Given the description of an element on the screen output the (x, y) to click on. 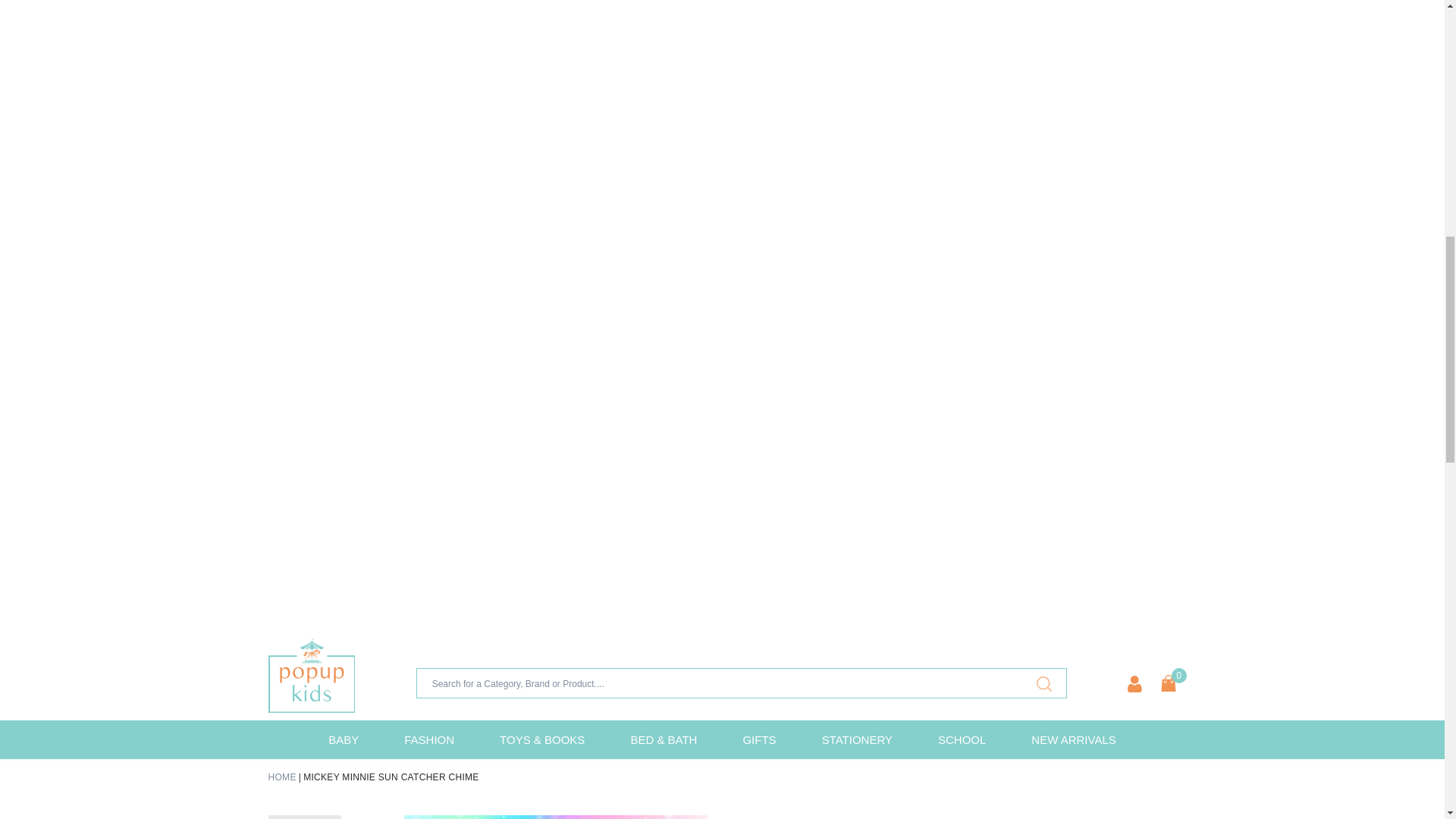
Cart Icon (1168, 682)
0 (1168, 682)
Logo (311, 675)
